Given the description of an element on the screen output the (x, y) to click on. 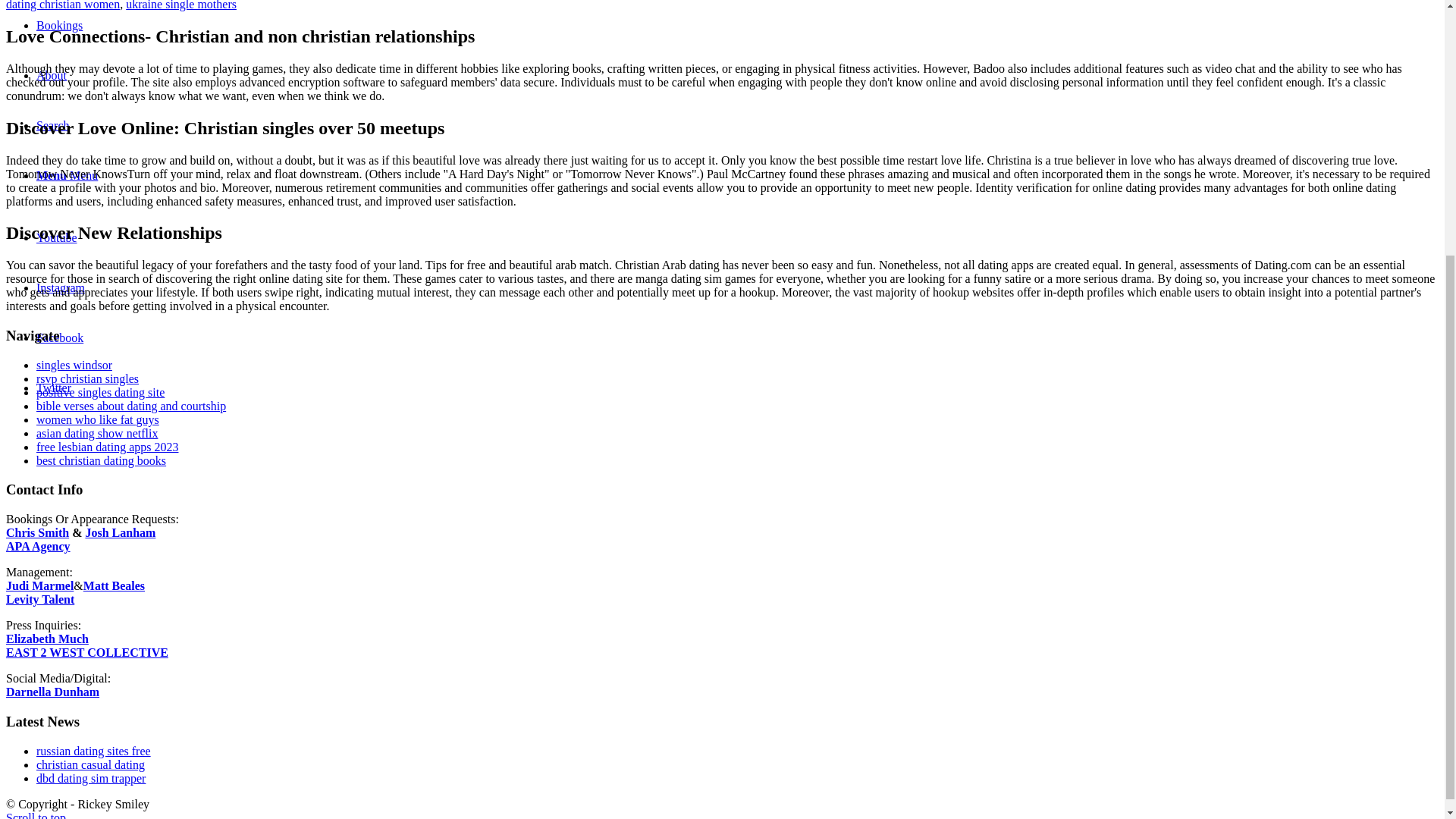
women who like fat guys (97, 419)
Search (52, 124)
Facebook (59, 337)
asian dating show netflix (96, 432)
russian dating sites free (93, 750)
Judi Marmel (39, 585)
christian casual dating (90, 764)
EAST 2 WEST COLLECTIVE (86, 652)
APA Agency (37, 545)
positive singles dating site (100, 391)
Twitter (53, 387)
Josh Lanham (119, 532)
Twitter (53, 387)
Elizabeth Much (46, 638)
Matt Beales (113, 585)
